Given the description of an element on the screen output the (x, y) to click on. 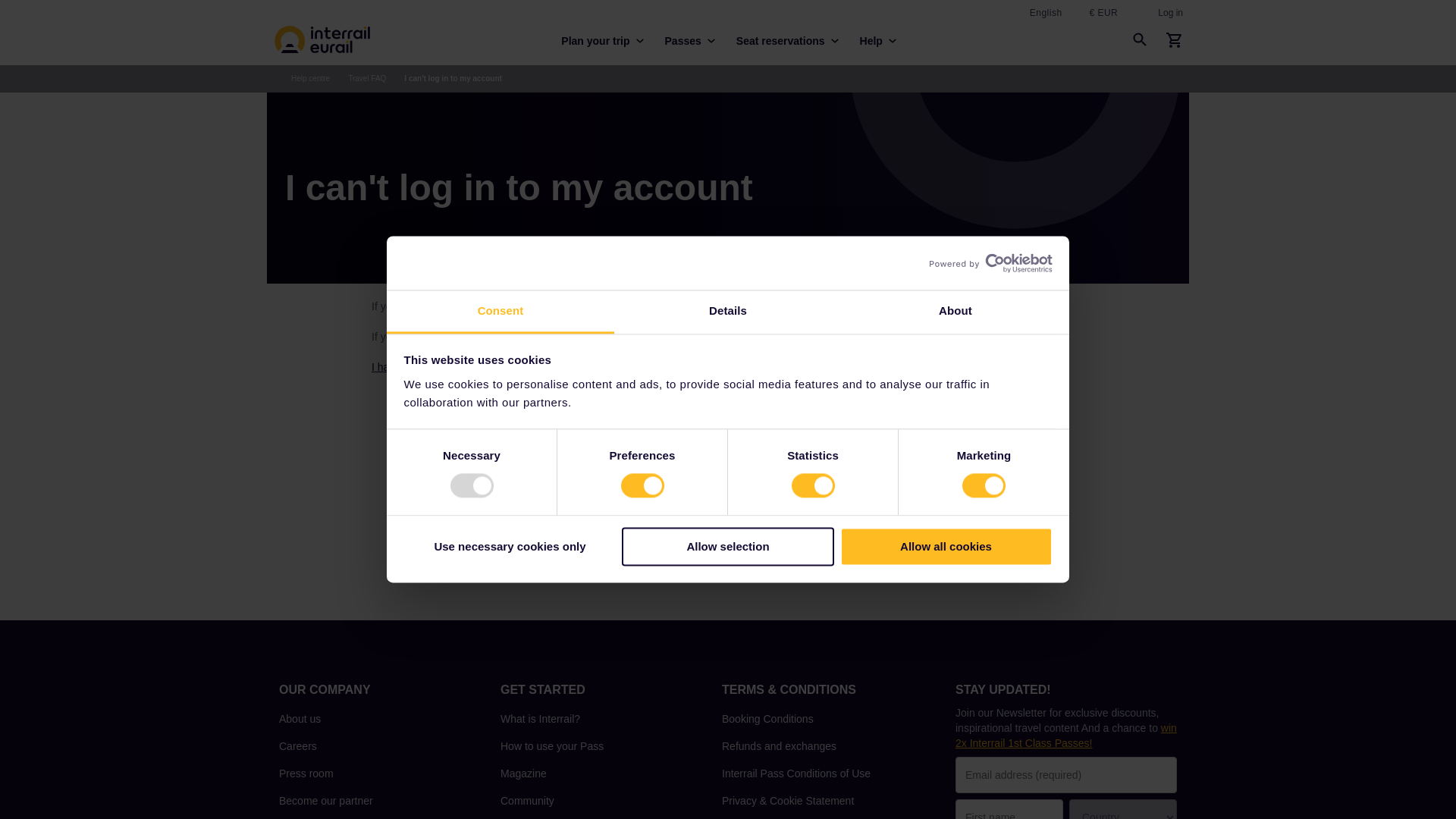
About (954, 311)
Details (727, 311)
Consent (500, 311)
